Given the description of an element on the screen output the (x, y) to click on. 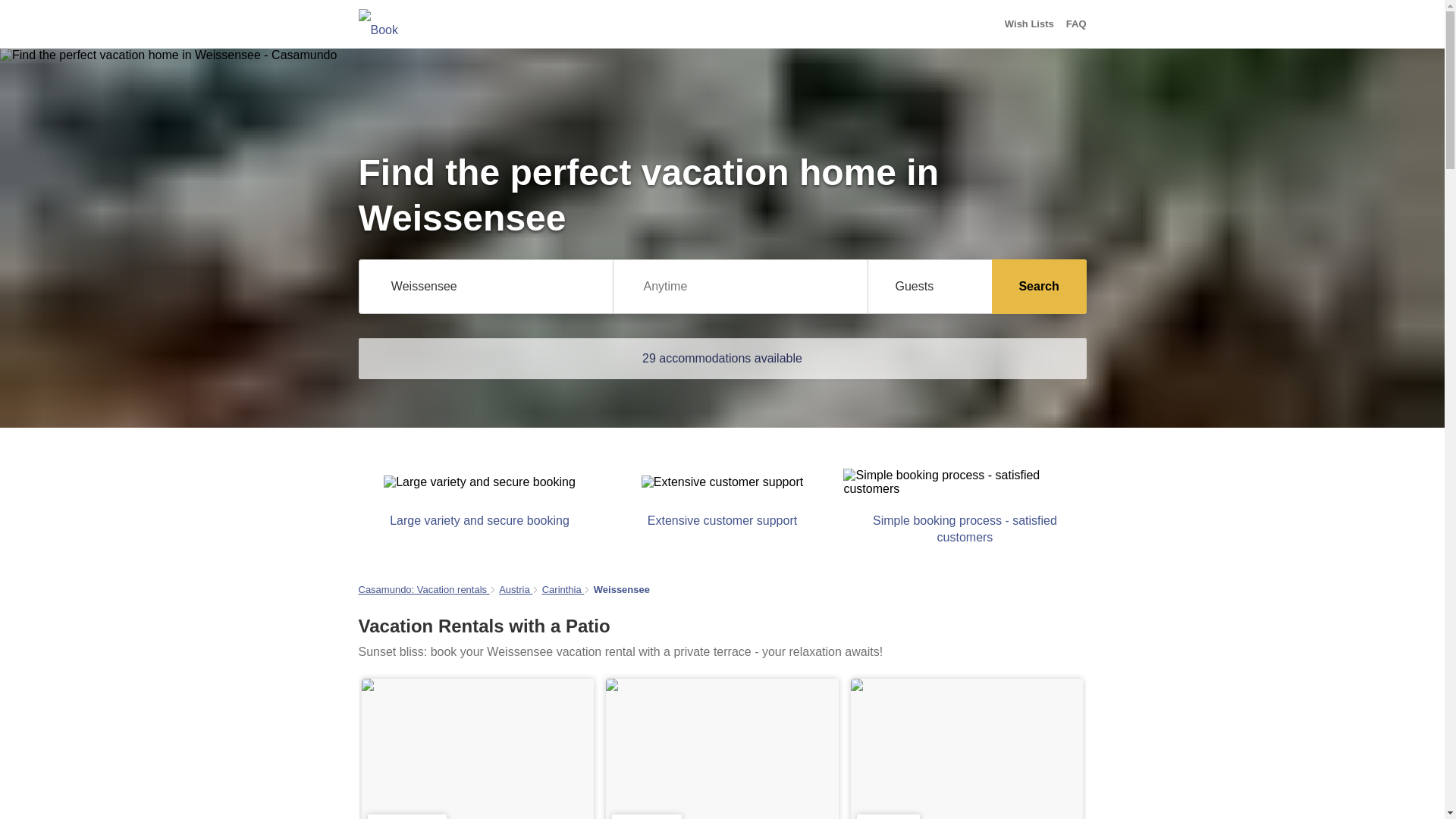
Carinthia (563, 589)
Search (1038, 286)
Carinthia (563, 589)
Wish Lists (1029, 24)
Casamundo: Vacation rentals (423, 589)
Austria (515, 589)
Austria (515, 589)
Casamundo: Vacation rentals (423, 589)
